Given the description of an element on the screen output the (x, y) to click on. 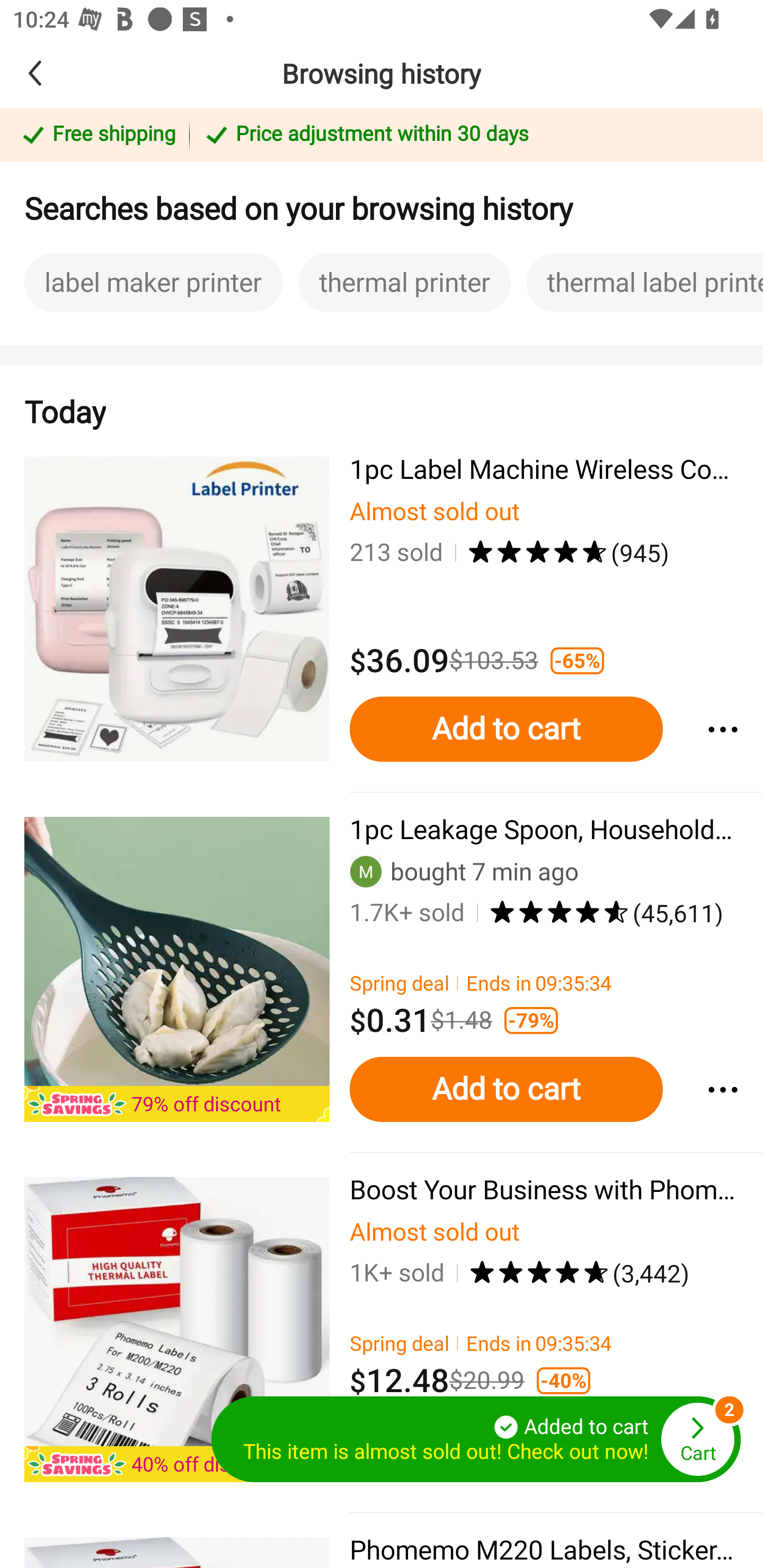
Back  back (63, 72)
Free shipping (97, 135)
Price adjustment within 30 days (472, 135)
label maker printer (153, 282)
thermal printer (404, 282)
thermal label printer (644, 282)
Add to cart (506, 729)
 (721, 729)
Add to cart (506, 1089)
 (721, 1089)
